Given the description of an element on the screen output the (x, y) to click on. 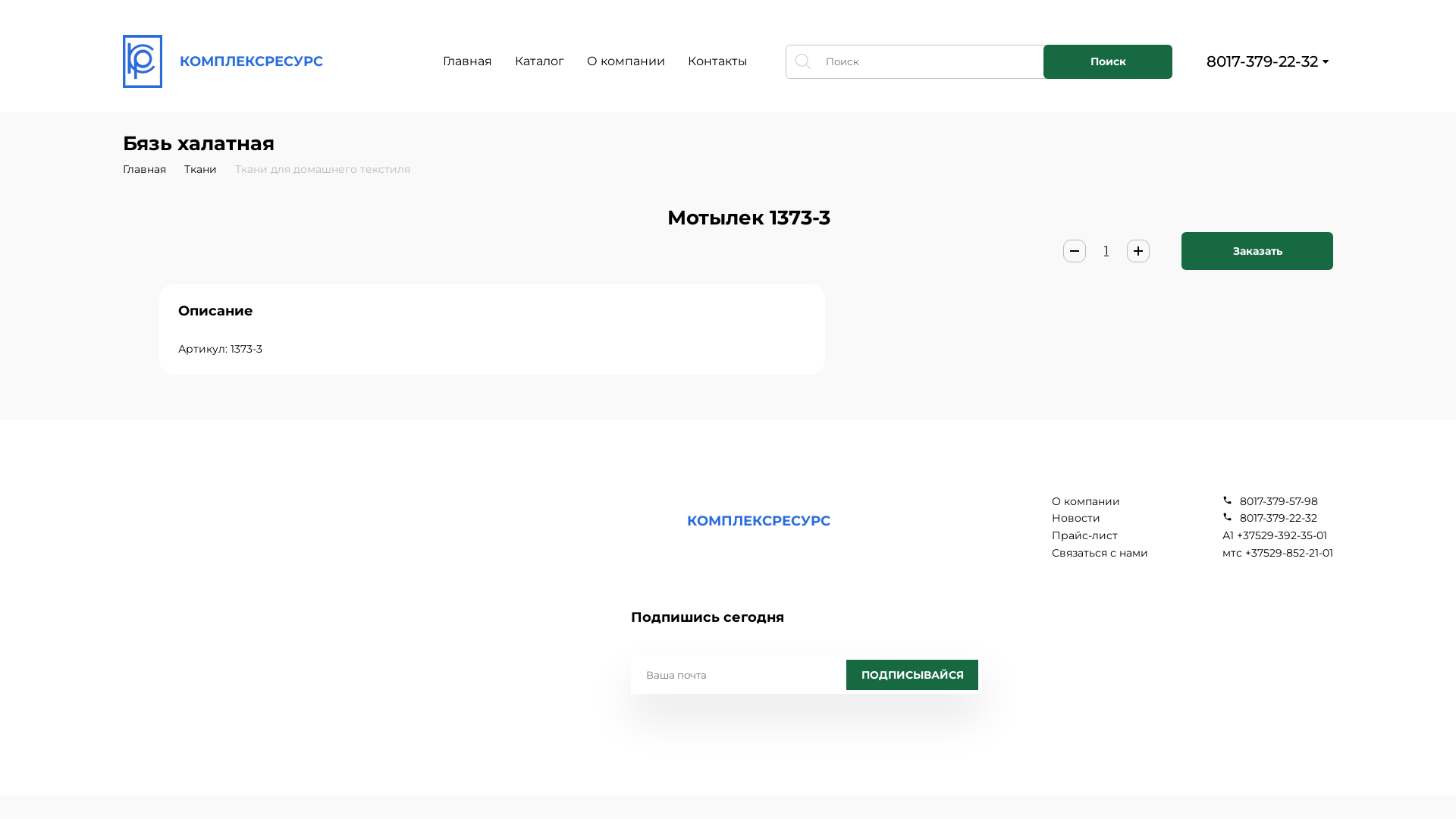
8017-379-57-98 Element type: text (1277, 501)
8017-379-22-32 Element type: text (1261, 60)
8017-379-22-32 Element type: text (1277, 517)
